Given the description of an element on the screen output the (x, y) to click on. 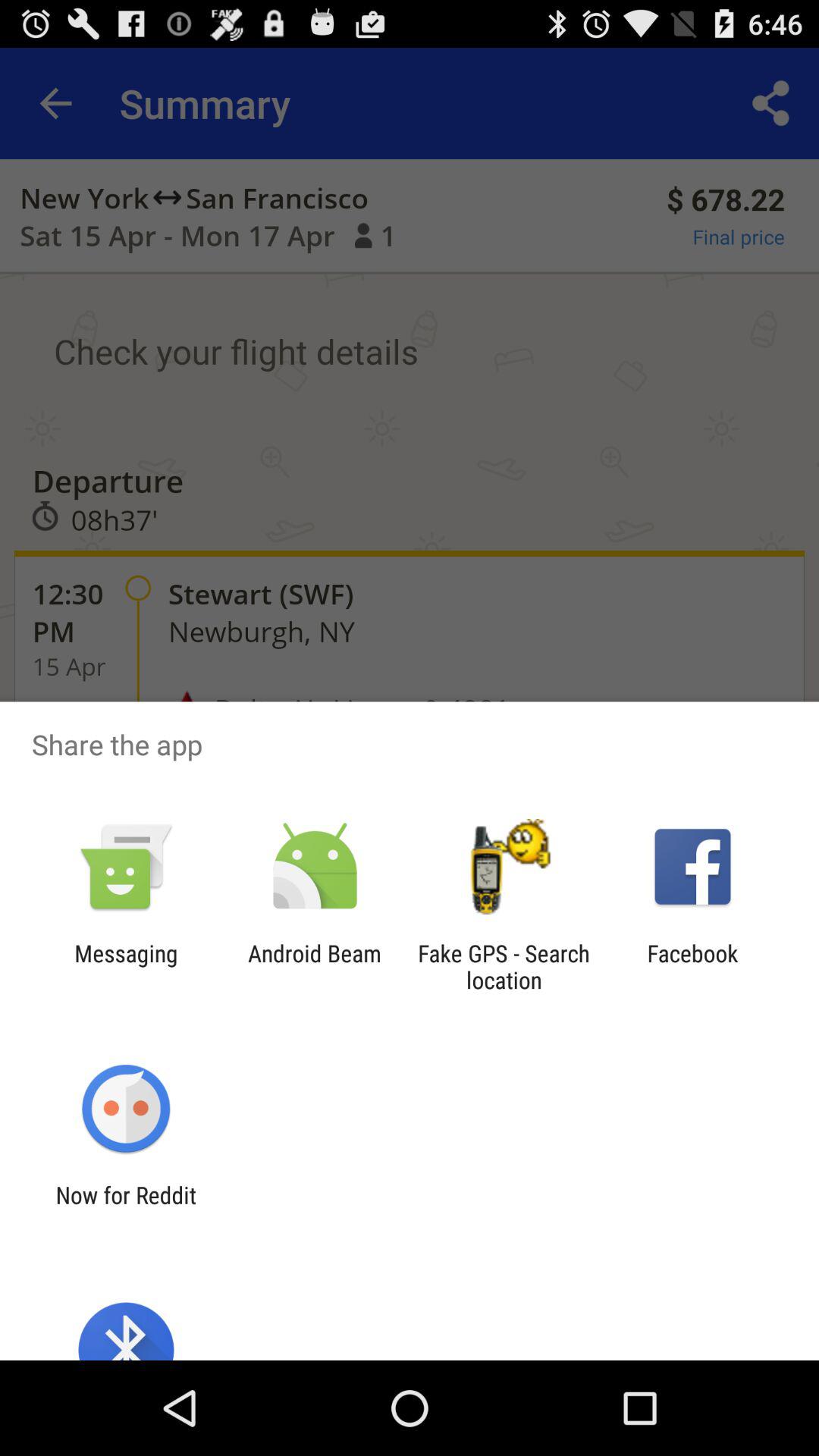
flip until messaging item (126, 966)
